Given the description of an element on the screen output the (x, y) to click on. 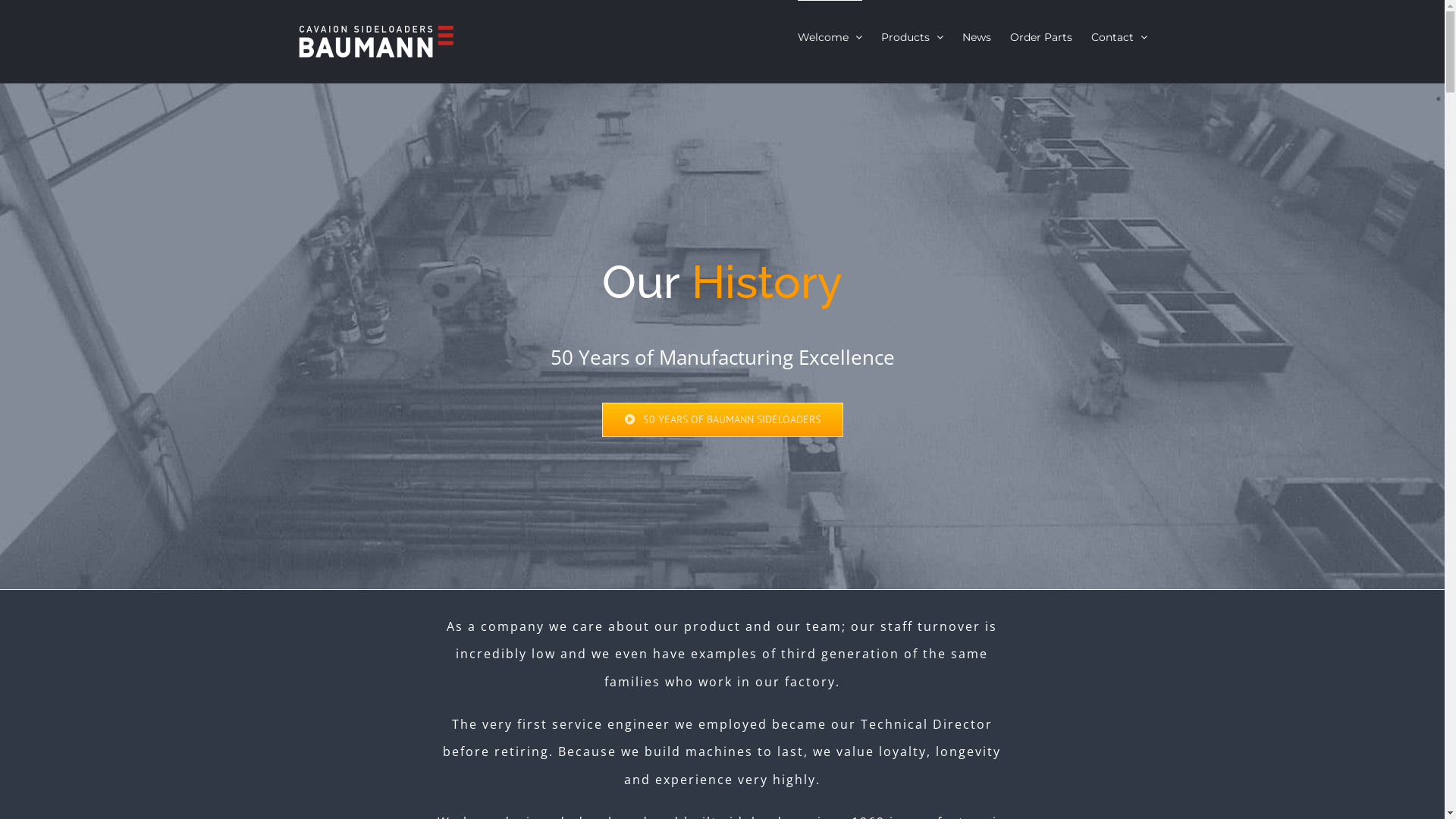
50 YEARS OF BAUMANN SIDELOADERS Element type: text (722, 419)
News Element type: text (975, 36)
Order Parts Element type: text (1041, 36)
Welcome Element type: text (829, 36)
Contact Element type: text (1118, 36)
Products Element type: text (912, 36)
